Given the description of an element on the screen output the (x, y) to click on. 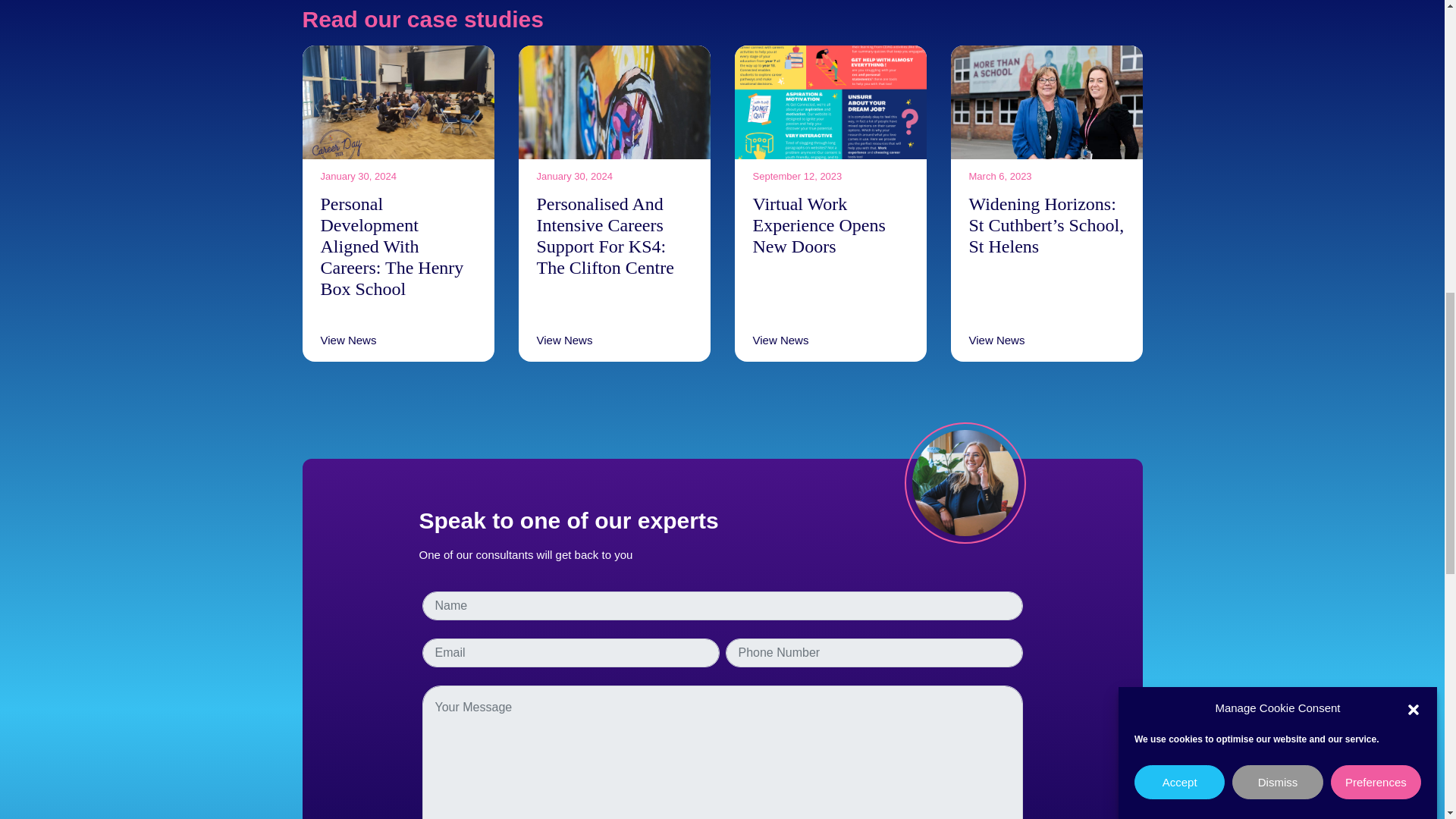
View News (996, 340)
Accept (1179, 103)
View News (564, 340)
View News (347, 340)
View News (780, 340)
Dismiss (1276, 74)
Preferences (1375, 66)
